Given the description of an element on the screen output the (x, y) to click on. 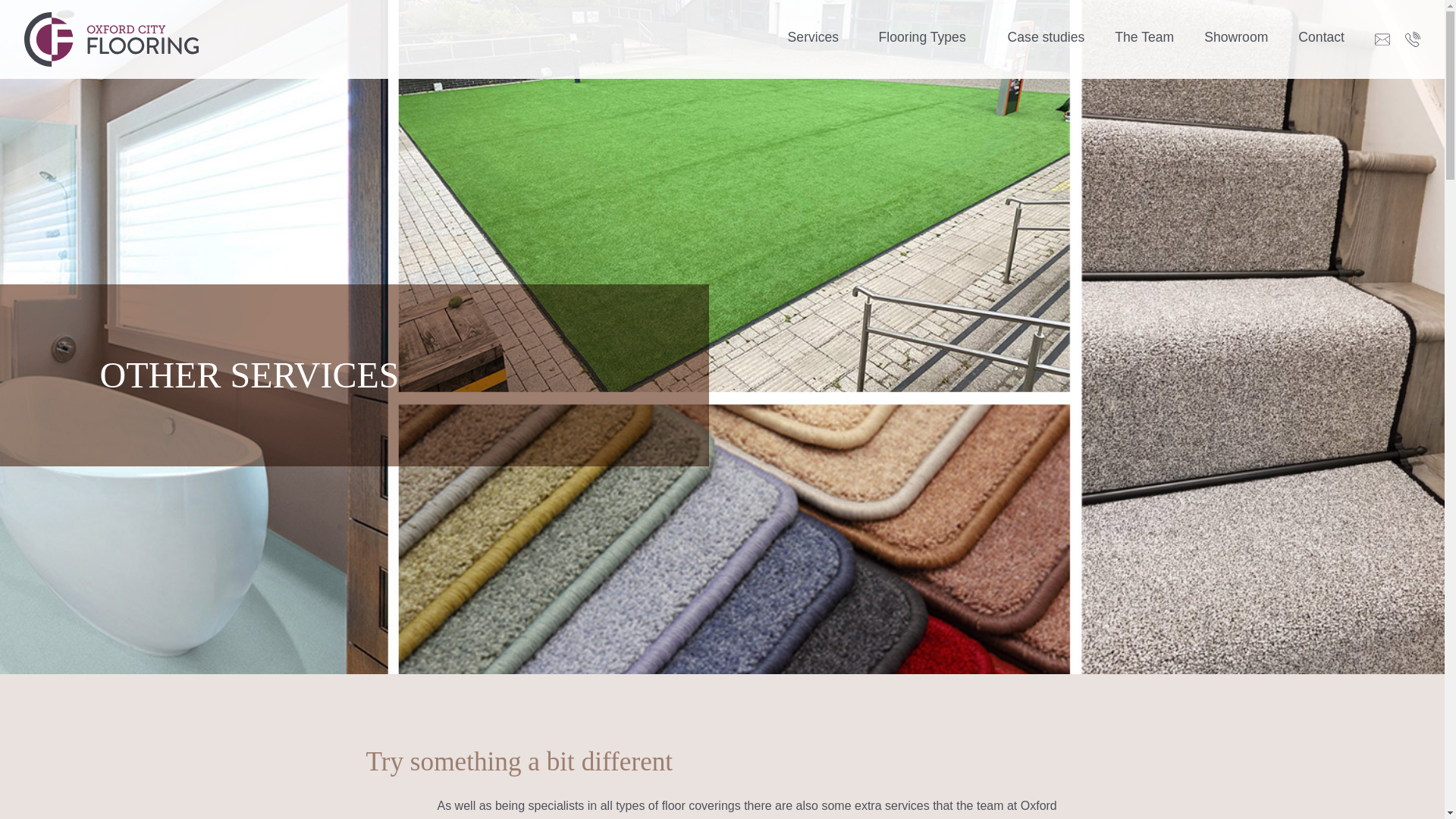
Case studies (1045, 37)
Services (812, 37)
Flooring Types (922, 37)
Showroom (1236, 37)
The Team (1144, 37)
Contact (1320, 37)
